Given the description of an element on the screen output the (x, y) to click on. 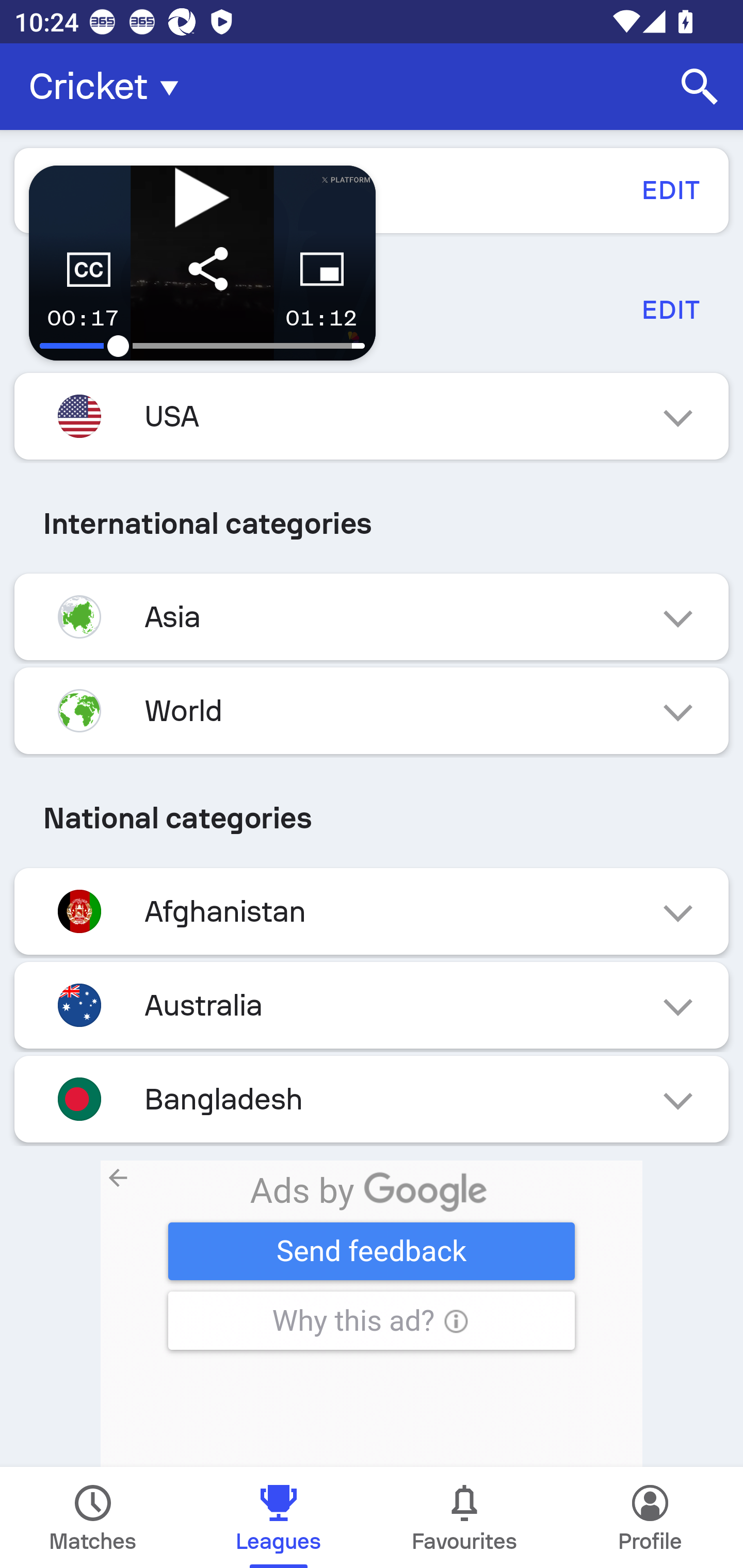
Cricket (109, 86)
Search (699, 86)
EDIT (670, 190)
EDIT (670, 309)
USA (371, 416)
International categories (371, 523)
Asia (371, 616)
World (371, 710)
National categories (371, 817)
Afghanistan (371, 911)
Australia (371, 1004)
Bangladesh (371, 1099)
Matches (92, 1517)
Favourites (464, 1517)
Profile (650, 1517)
